Given the description of an element on the screen output the (x, y) to click on. 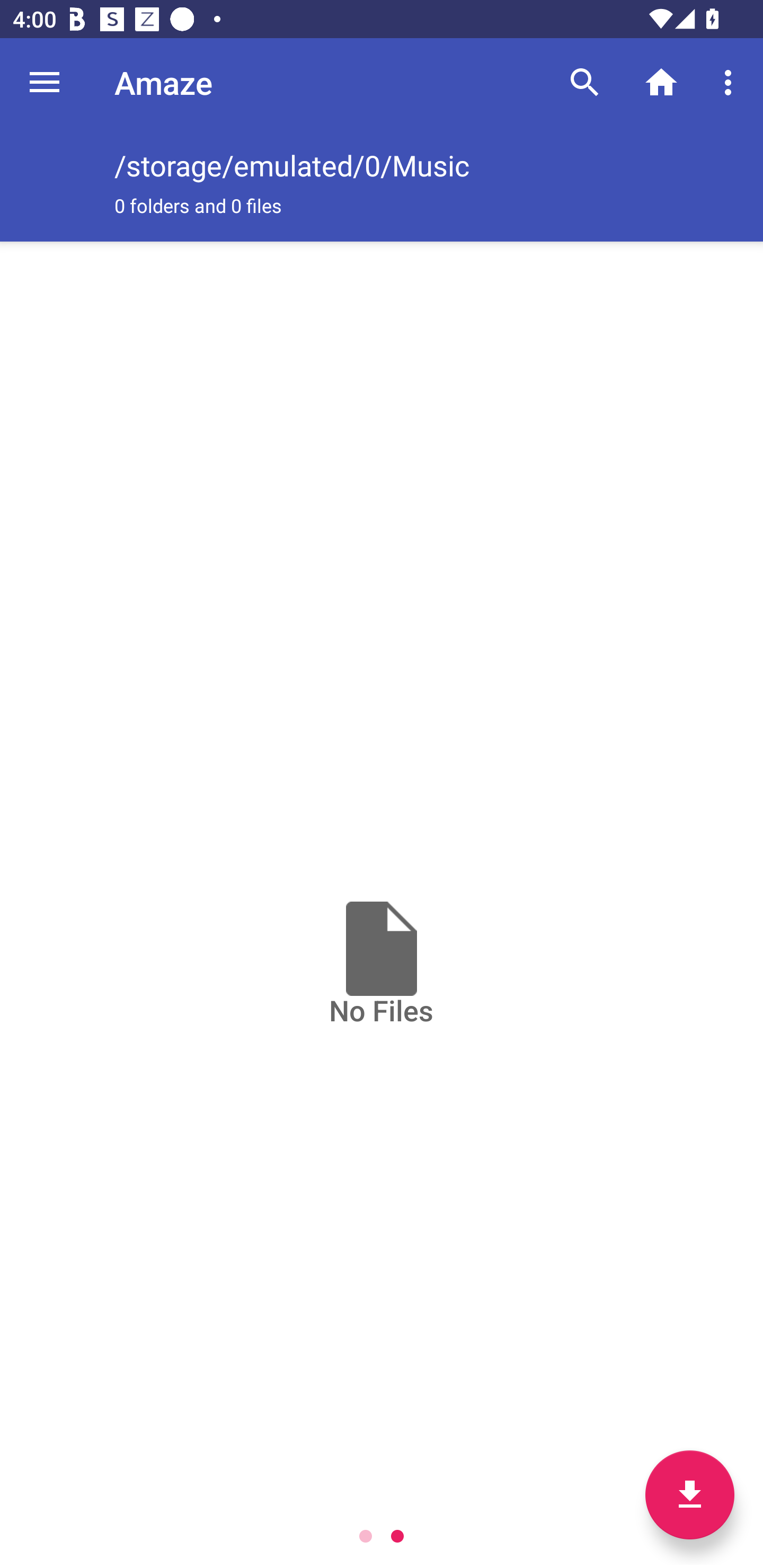
Navigate up (44, 82)
Search (585, 81)
Home (661, 81)
More options (731, 81)
